Given the description of an element on the screen output the (x, y) to click on. 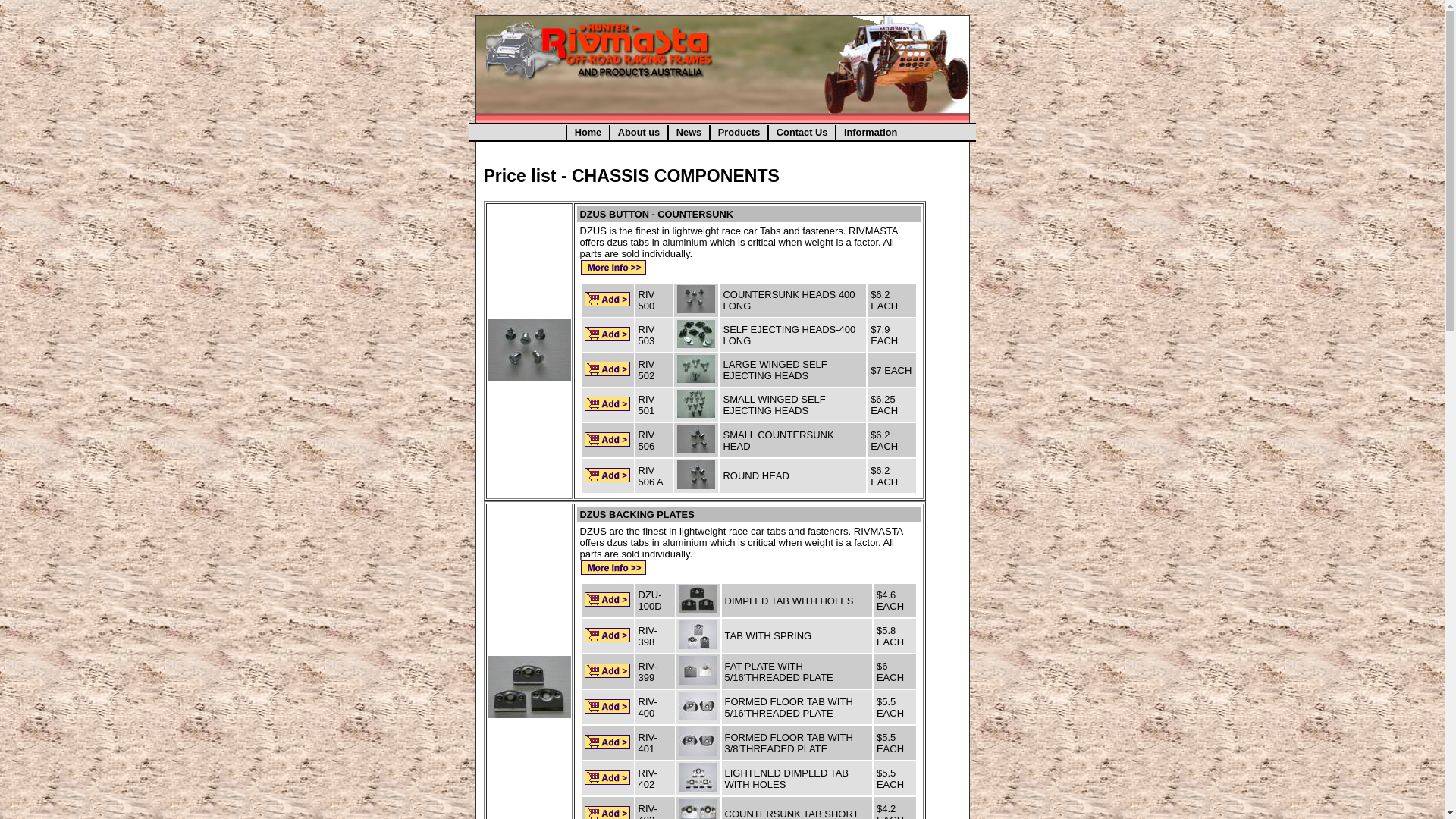
Information Element type: text (870, 132)
Products Element type: text (738, 132)
About us Element type: text (638, 132)
Contact Us Element type: text (802, 132)
Home Element type: text (588, 132)
News Element type: text (688, 132)
